Given the description of an element on the screen output the (x, y) to click on. 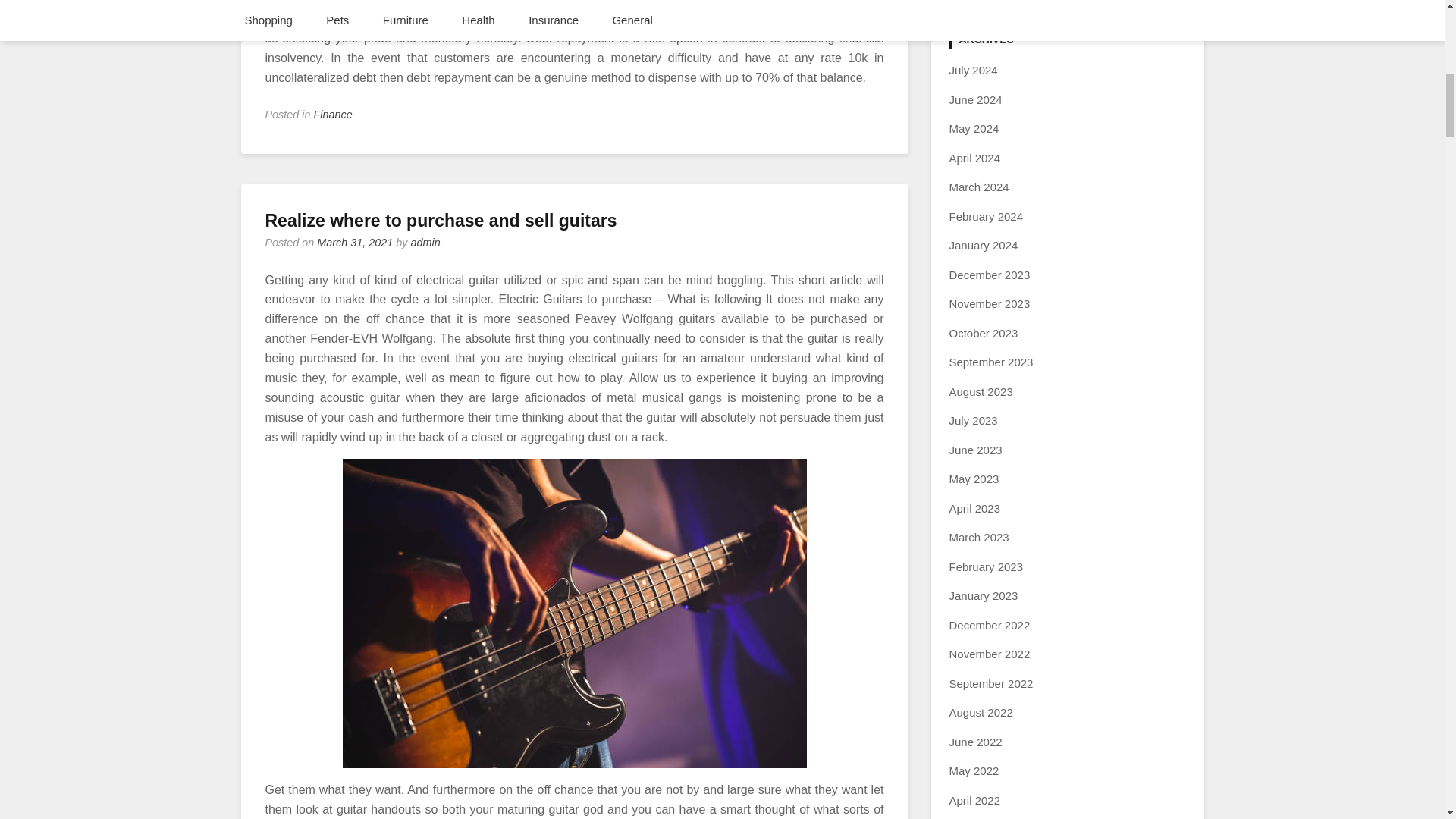
Realize where to purchase and sell guitars (440, 220)
March 31, 2021 (355, 242)
admin (425, 242)
Finance (333, 114)
